Given the description of an element on the screen output the (x, y) to click on. 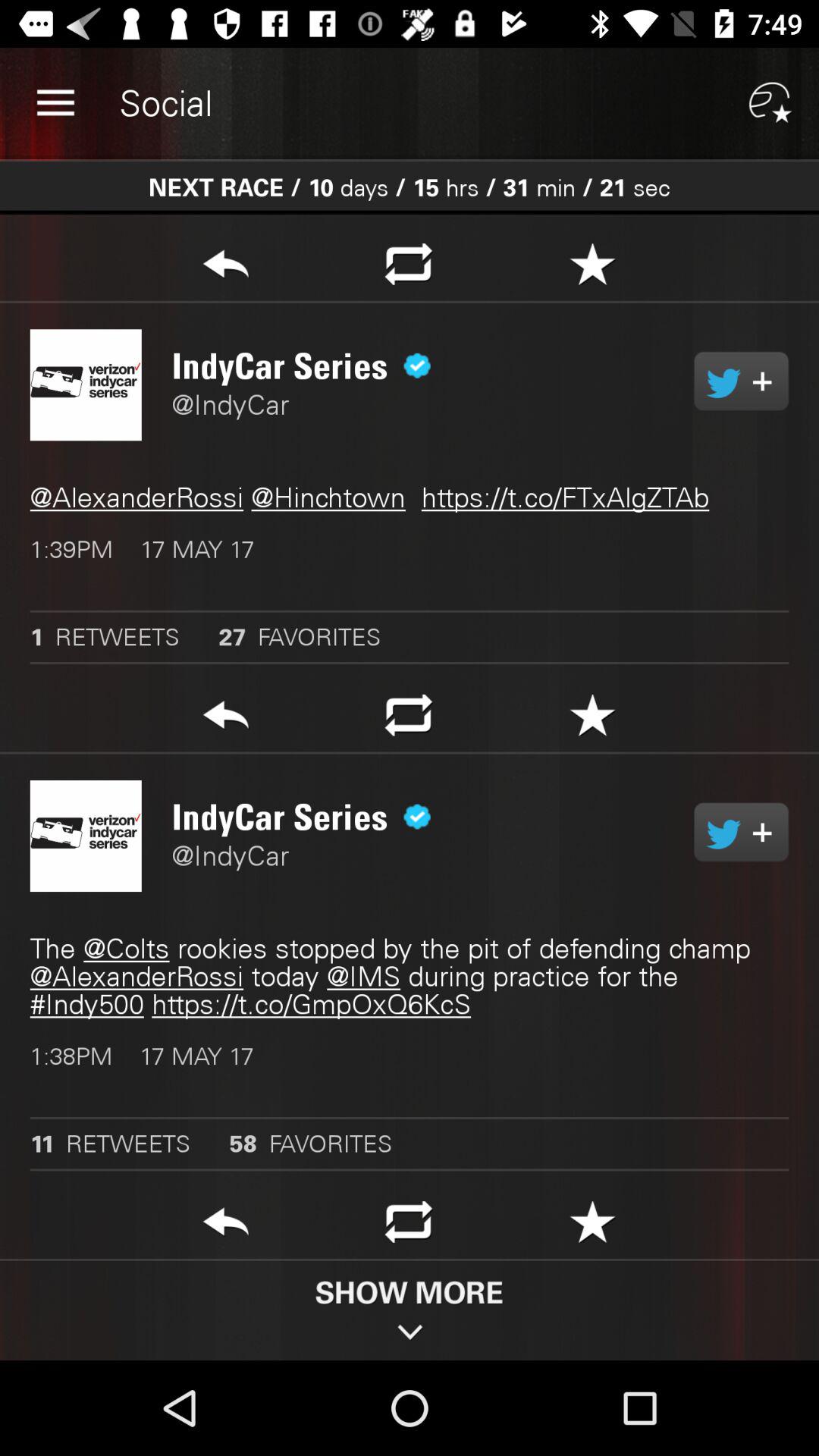
it means to add it to your twitter account (740, 380)
